Given the description of an element on the screen output the (x, y) to click on. 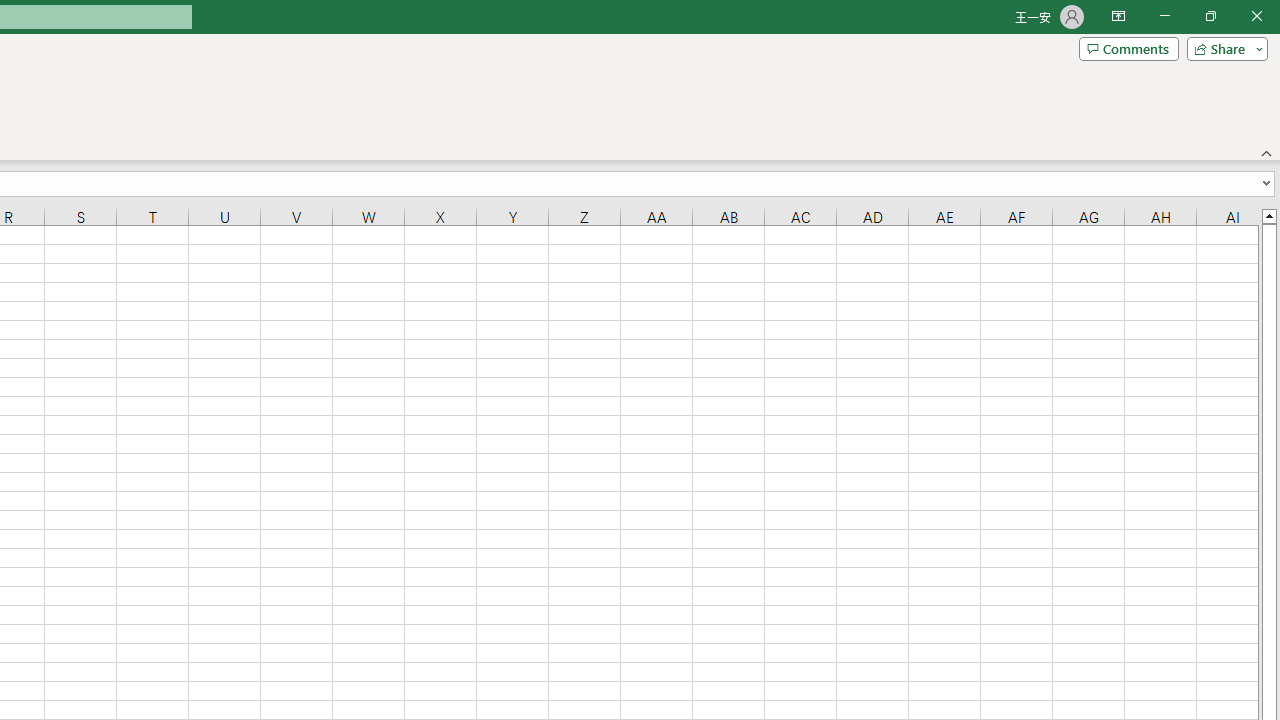
Restore Down (1210, 16)
